Given the description of an element on the screen output the (x, y) to click on. 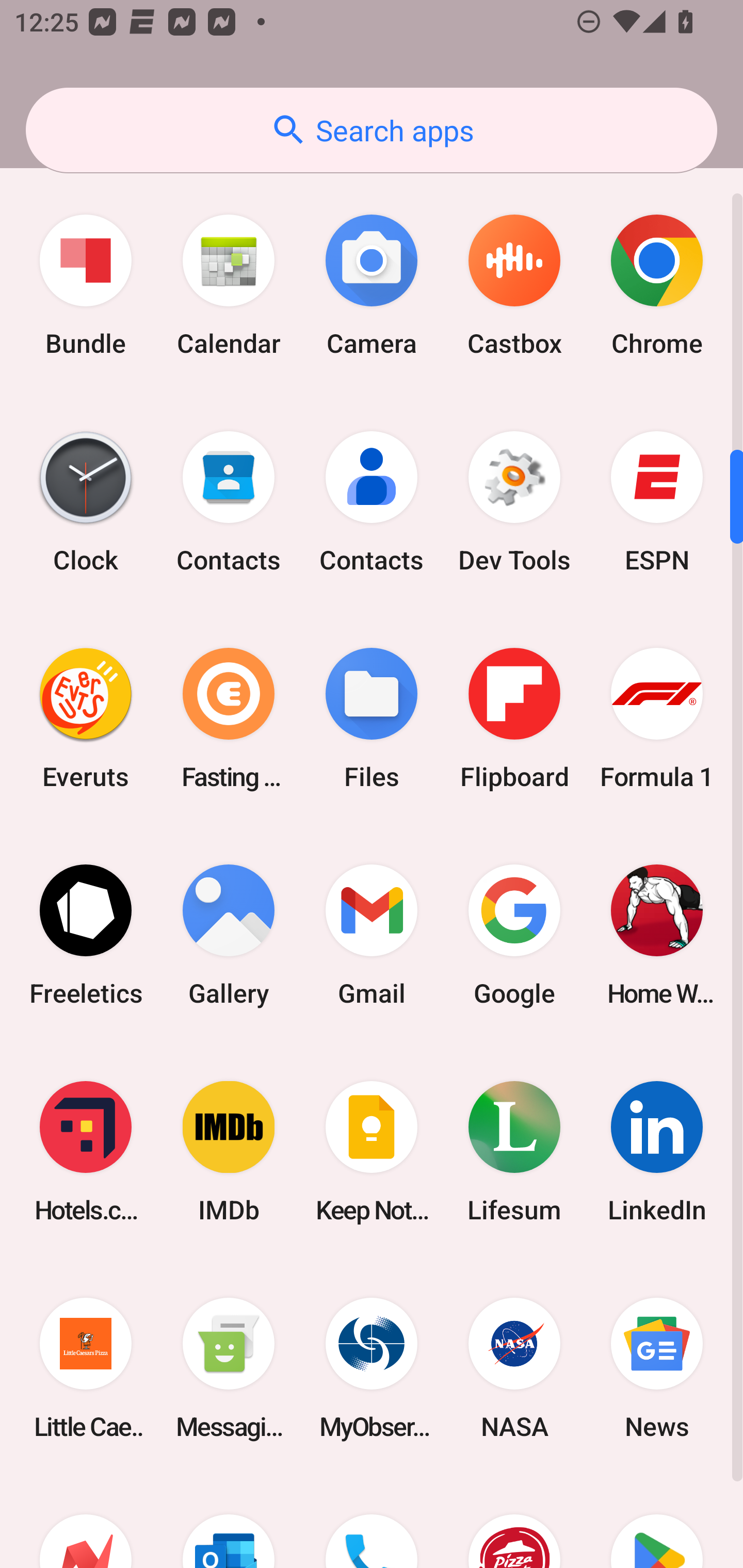
  Search apps (371, 130)
Bundle (85, 285)
Calendar (228, 285)
Camera (371, 285)
Castbox (514, 285)
Chrome (656, 285)
Clock (85, 501)
Contacts (228, 501)
Contacts (371, 501)
Dev Tools (514, 501)
ESPN (656, 501)
Everuts (85, 717)
Fasting Coach (228, 717)
Files (371, 717)
Flipboard (514, 717)
Formula 1 (656, 717)
Freeletics (85, 934)
Gallery (228, 934)
Gmail (371, 934)
Google (514, 934)
Home Workout (656, 934)
Hotels.com (85, 1151)
IMDb (228, 1151)
Keep Notes (371, 1151)
Lifesum (514, 1151)
LinkedIn (656, 1151)
Little Caesars Pizza (85, 1368)
Messaging (228, 1368)
MyObservatory (371, 1368)
NASA (514, 1368)
News (656, 1368)
